Given the description of an element on the screen output the (x, y) to click on. 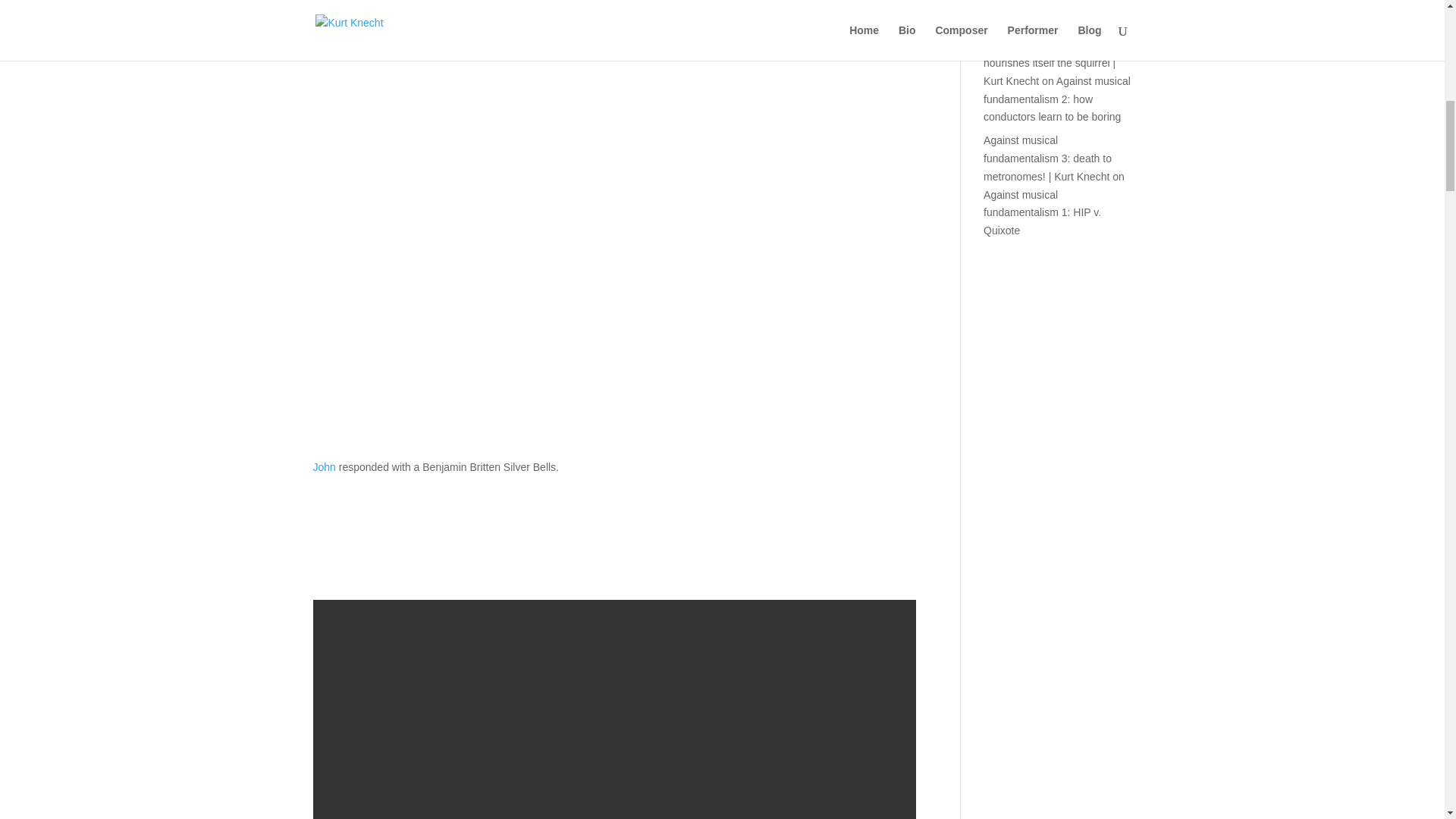
Against musical fundamentalism 1: HIP v. Quixote (1042, 213)
John (323, 467)
